Given the description of an element on the screen output the (x, y) to click on. 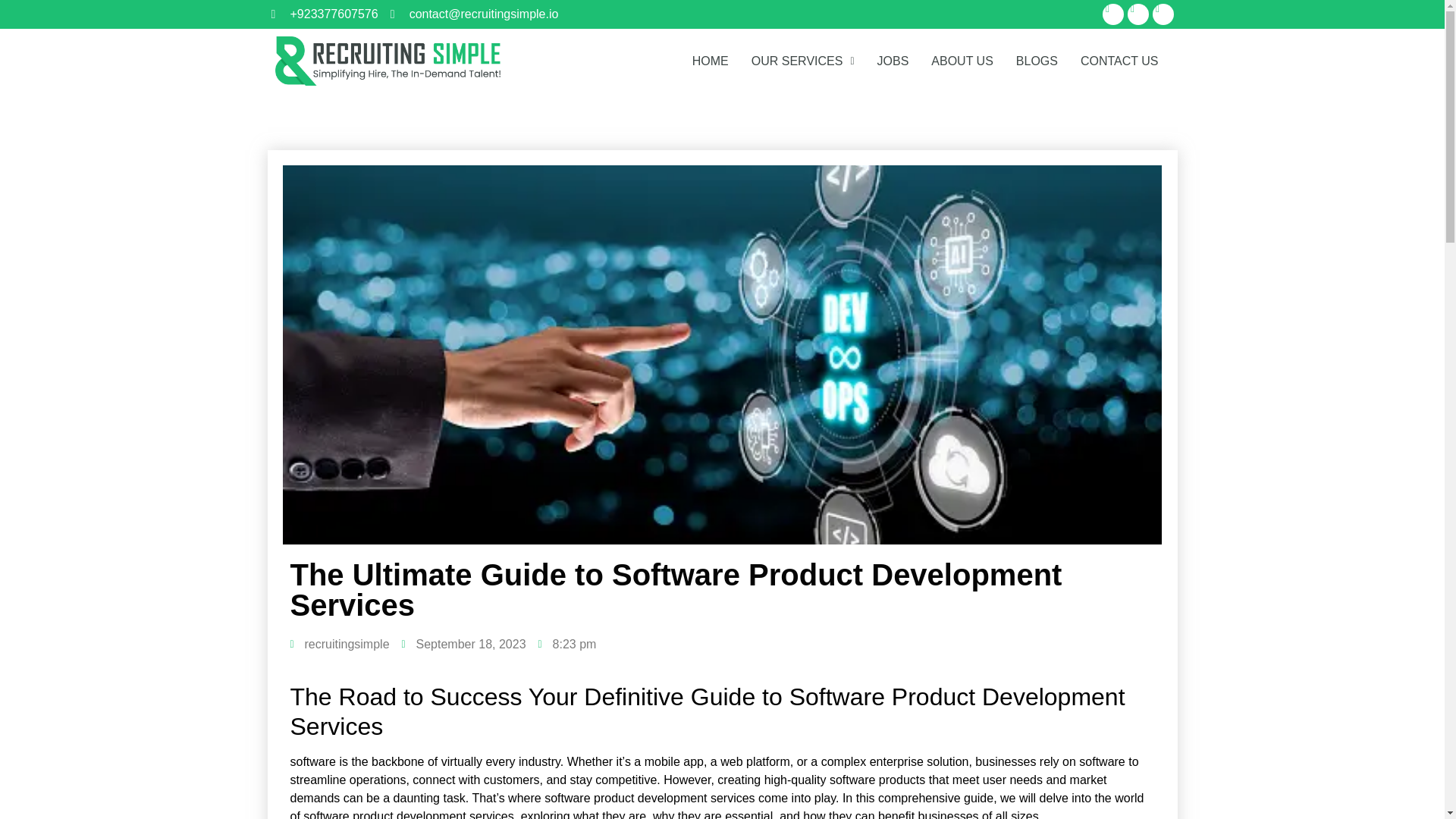
recruitingsimple (338, 644)
CONTACT US (1119, 61)
JOBS (893, 61)
September 18, 2023 (463, 644)
BLOGS (1036, 61)
OUR SERVICES (802, 61)
HOME (710, 61)
ABOUT US (962, 61)
